Given the description of an element on the screen output the (x, y) to click on. 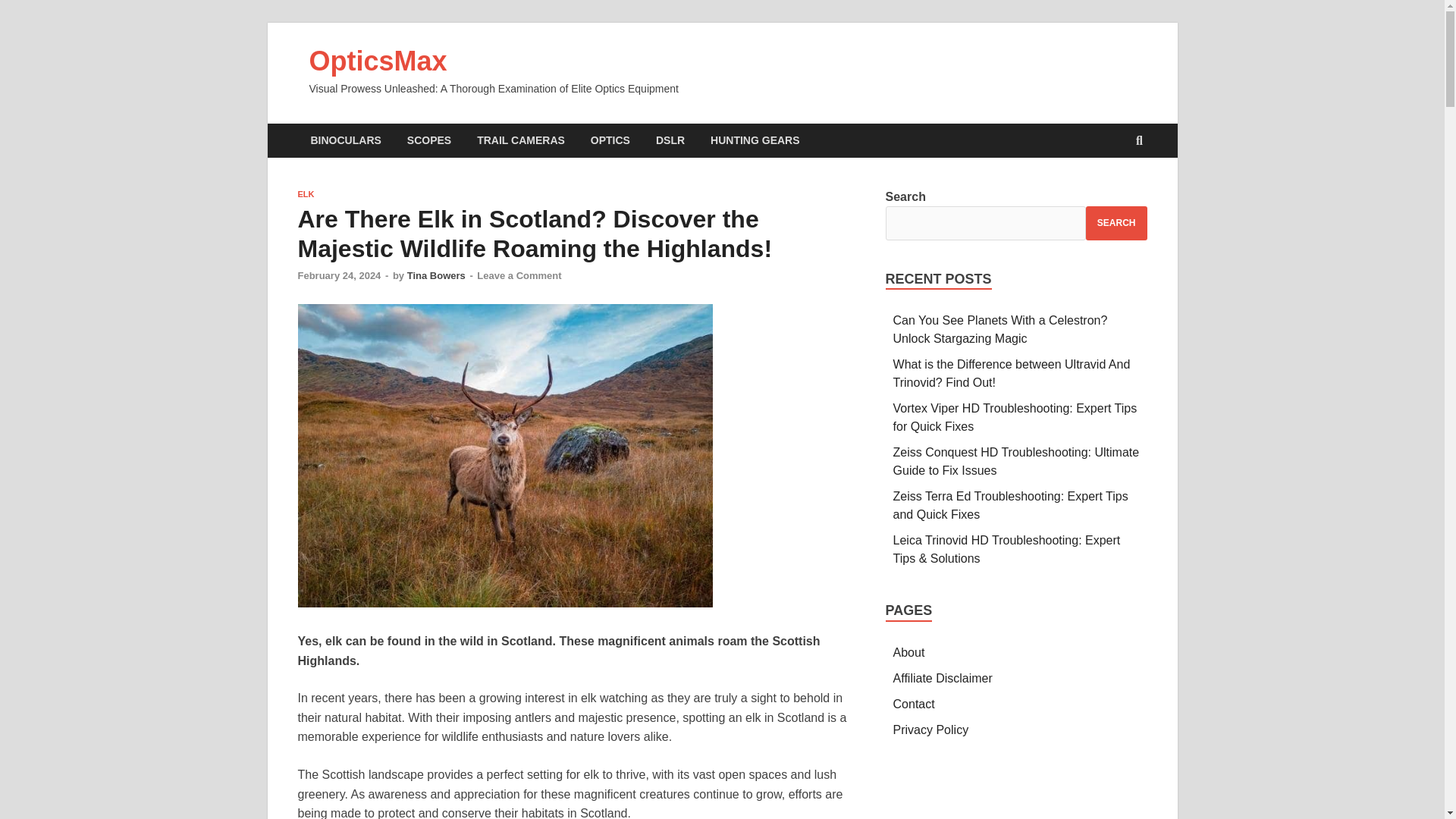
HUNTING GEARS (754, 140)
BINOCULARS (345, 140)
OPTICS (610, 140)
TRAIL CAMERAS (521, 140)
February 24, 2024 (338, 275)
ELK (305, 194)
OpticsMax (377, 60)
SCOPES (429, 140)
DSLR (670, 140)
Tina Bowers (436, 275)
